Given the description of an element on the screen output the (x, y) to click on. 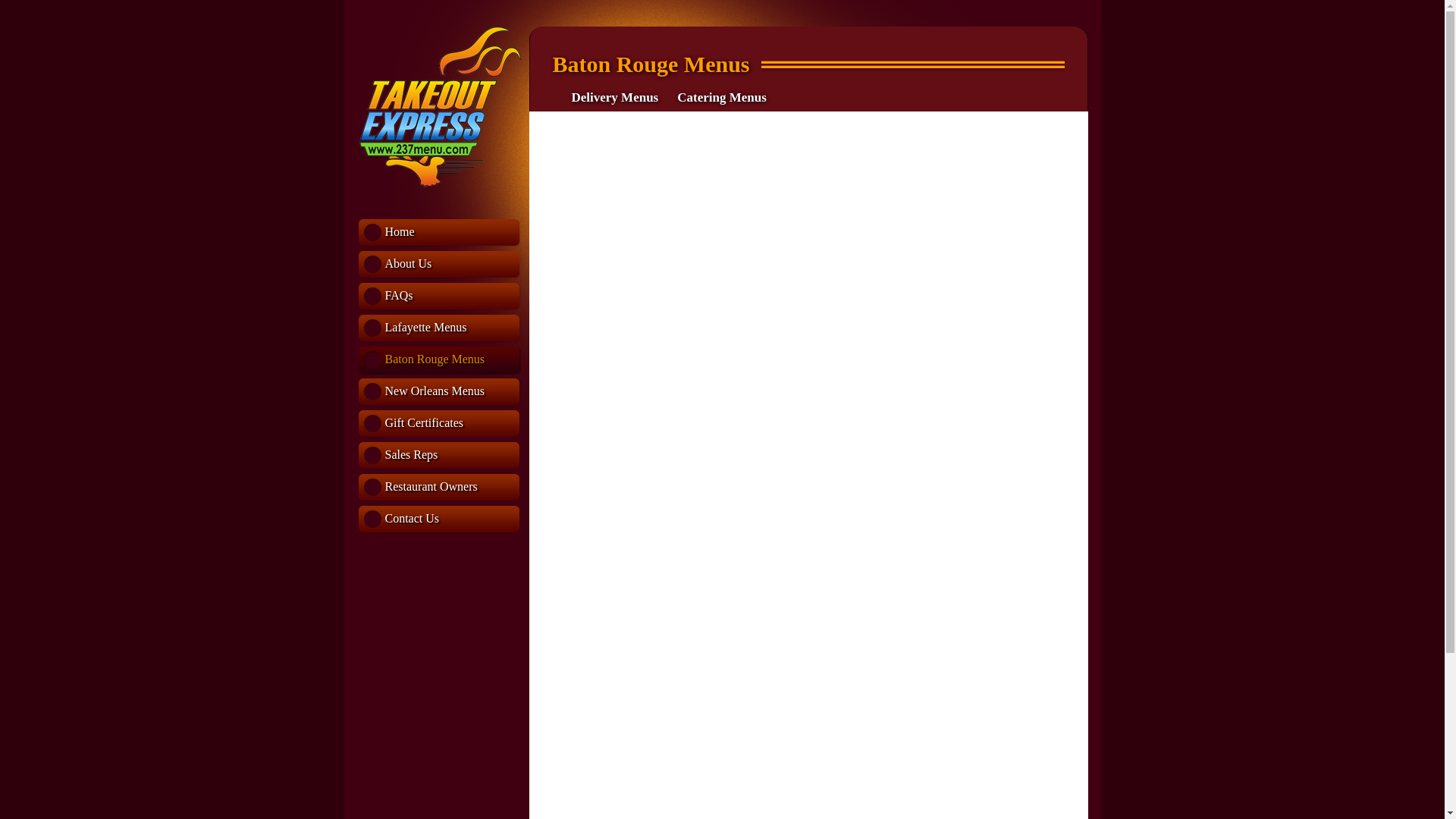
Home Element type: text (438, 233)
Contact Us Element type: text (438, 519)
Sales Reps Element type: text (438, 456)
Home Element type: hover (438, 183)
New Orleans Menus Element type: text (438, 392)
Lafayette Menus Element type: text (438, 328)
Catering Menus Element type: text (721, 97)
Baton Rouge Menus Element type: text (438, 360)
FAQs Element type: text (438, 296)
Restaurant Owners Element type: text (438, 487)
Gift Certificates Element type: text (438, 424)
About Us Element type: text (438, 265)
Delivery Menus Element type: text (614, 97)
